Given the description of an element on the screen output the (x, y) to click on. 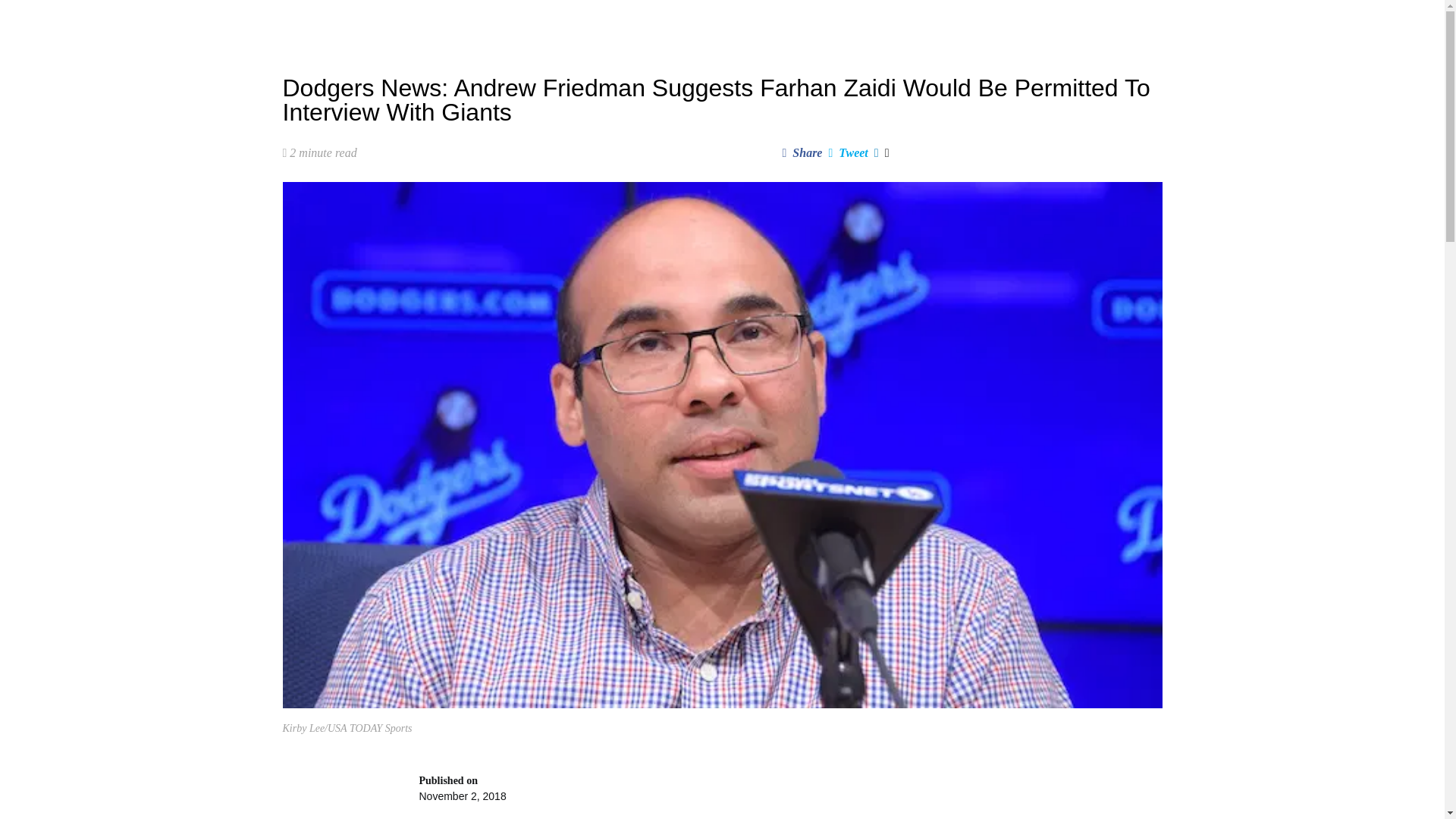
Dodger Blue (322, 22)
Schedules (578, 22)
Rumors (513, 22)
Andrew Friedman, Farhan Zaidi address World Series loss (789, 796)
Team (640, 22)
Dodgers News (440, 22)
